Given the description of an element on the screen output the (x, y) to click on. 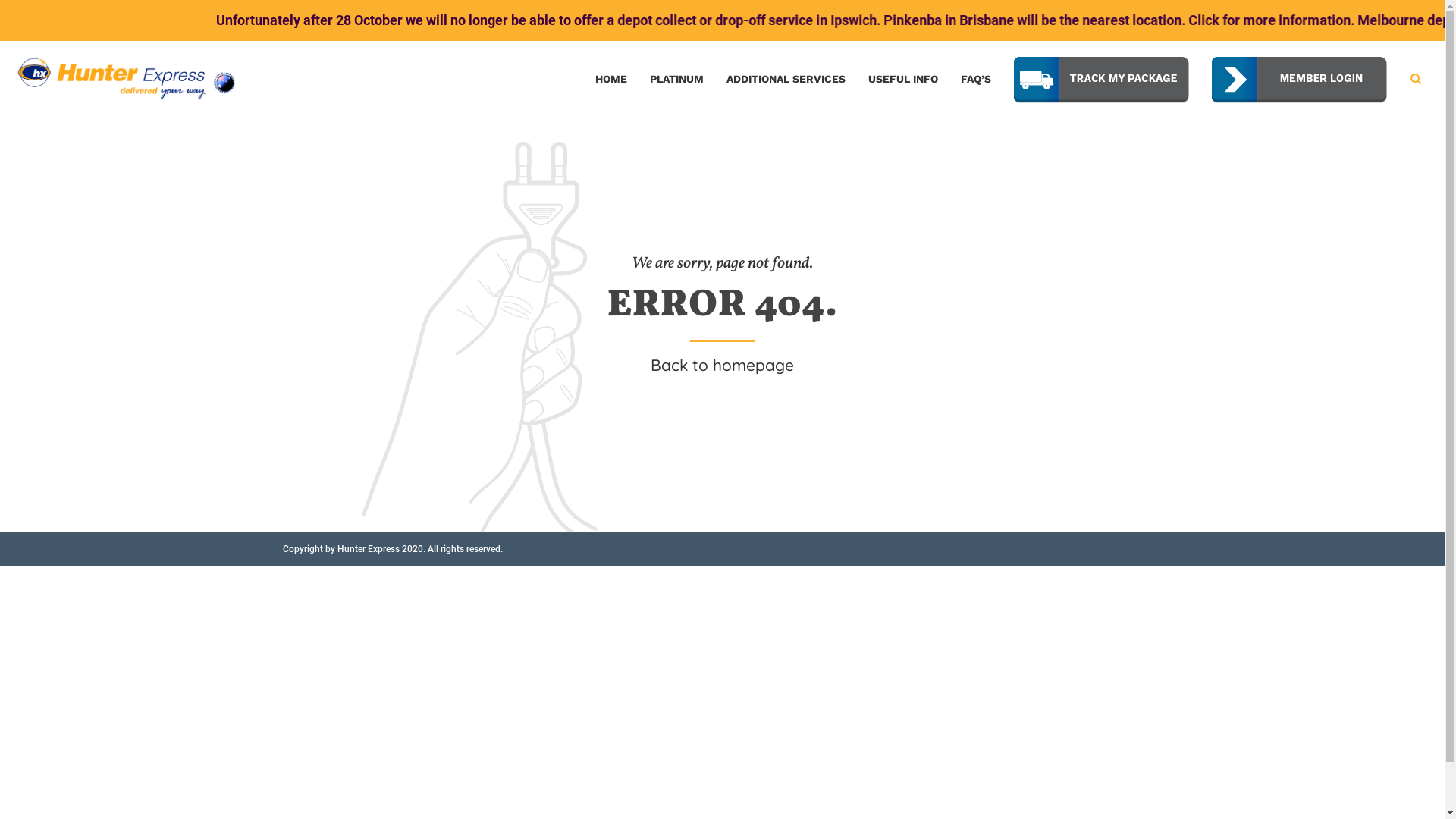
ADDITIONAL SERVICES Element type: text (785, 78)
HOME Element type: text (611, 78)
Back to homepage Element type: text (721, 364)
PLATINUM Element type: text (676, 78)
USEFUL INFO Element type: text (903, 78)
